Given the description of an element on the screen output the (x, y) to click on. 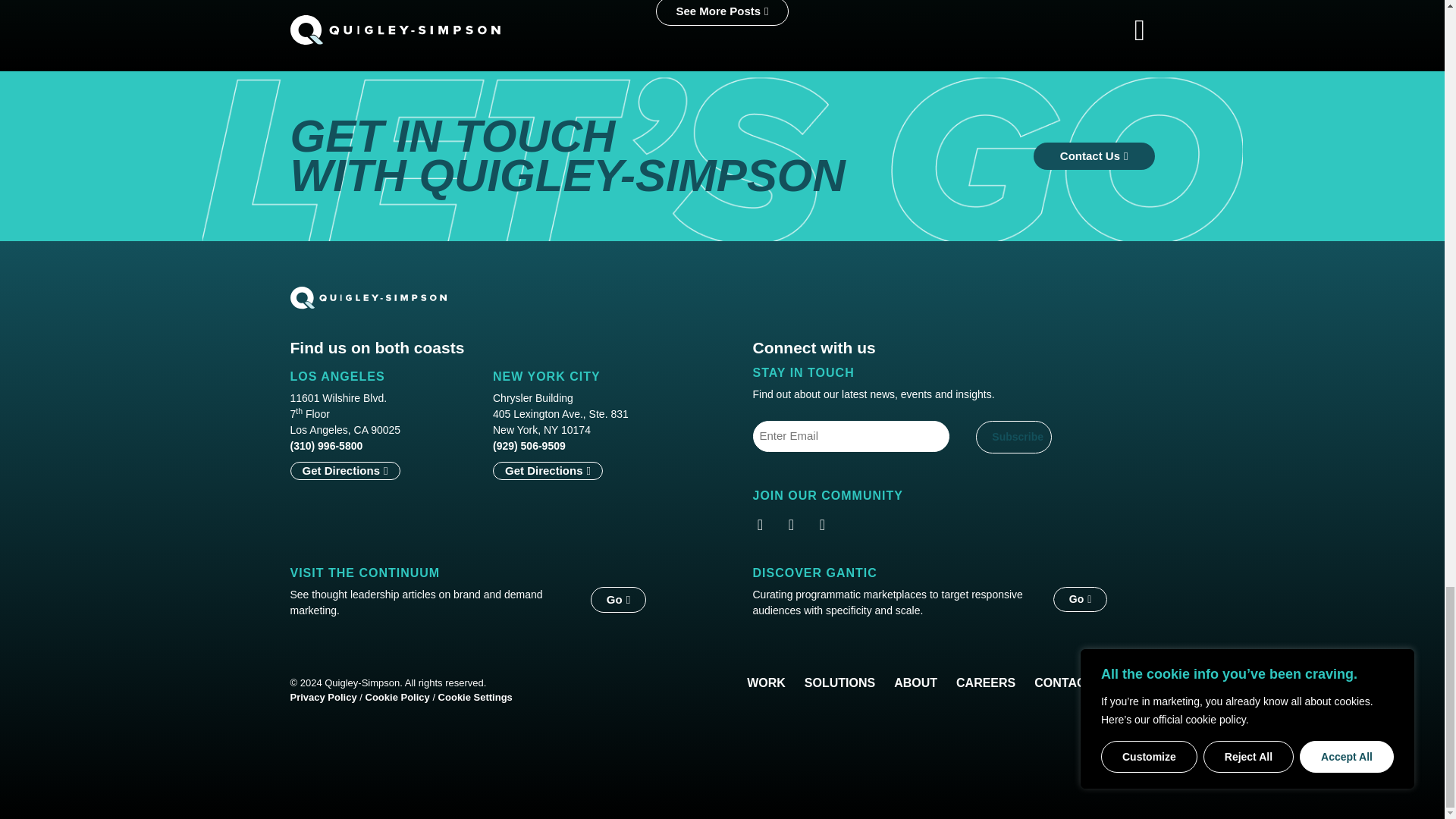
Subscribe (1013, 436)
